Given the description of an element on the screen output the (x, y) to click on. 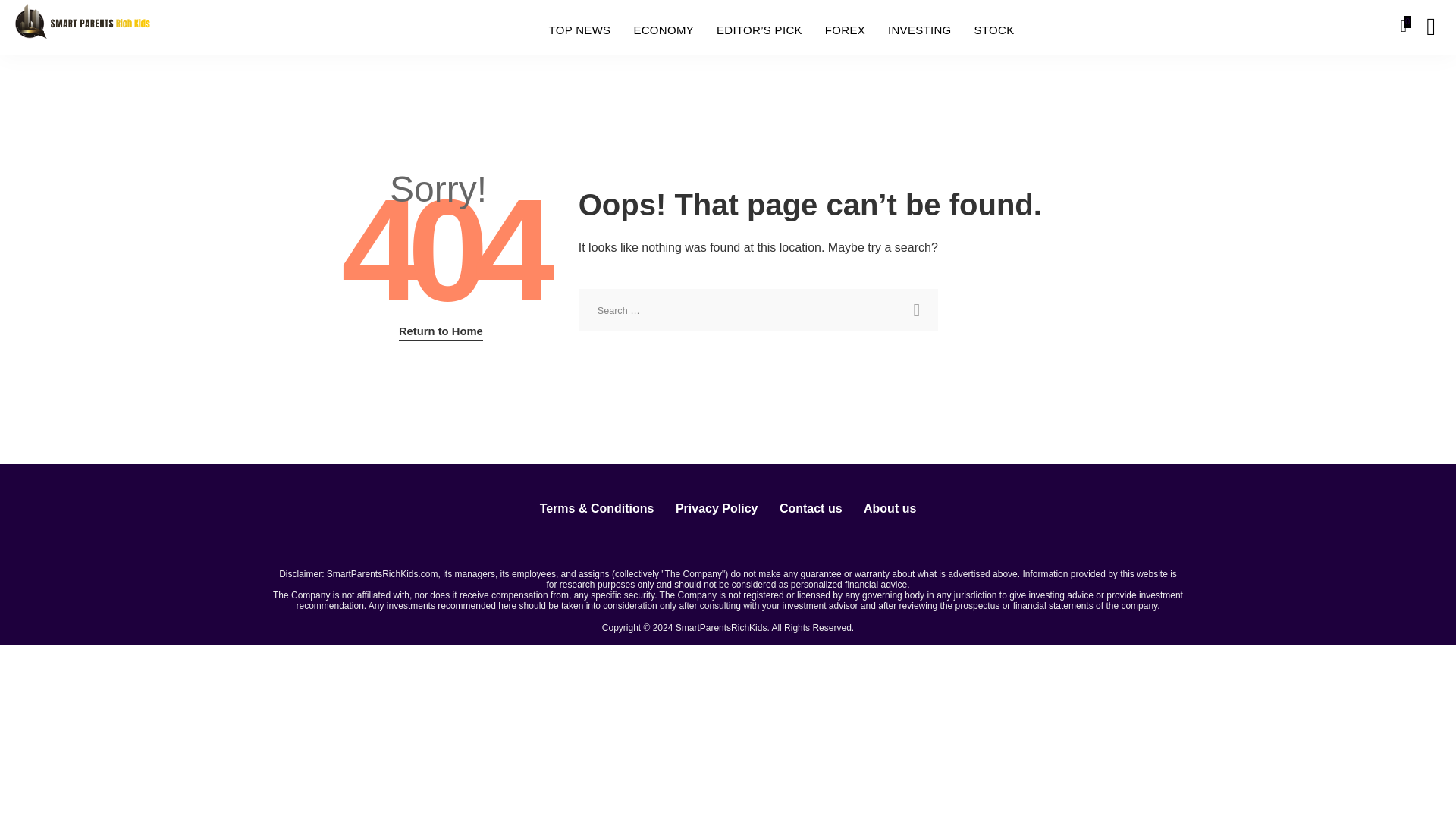
STOCK (994, 30)
Privacy Policy (716, 507)
Search (916, 310)
Search (1431, 26)
About us (889, 507)
0 (1405, 26)
INVESTING (919, 30)
FOREX (844, 30)
Search (1146, 27)
Search (916, 310)
Contact us (810, 507)
SmartParentsRichKids.com (382, 573)
Return to Home (440, 331)
Smart Parents Rich Kids (81, 26)
ECONOMY (662, 30)
